Given the description of an element on the screen output the (x, y) to click on. 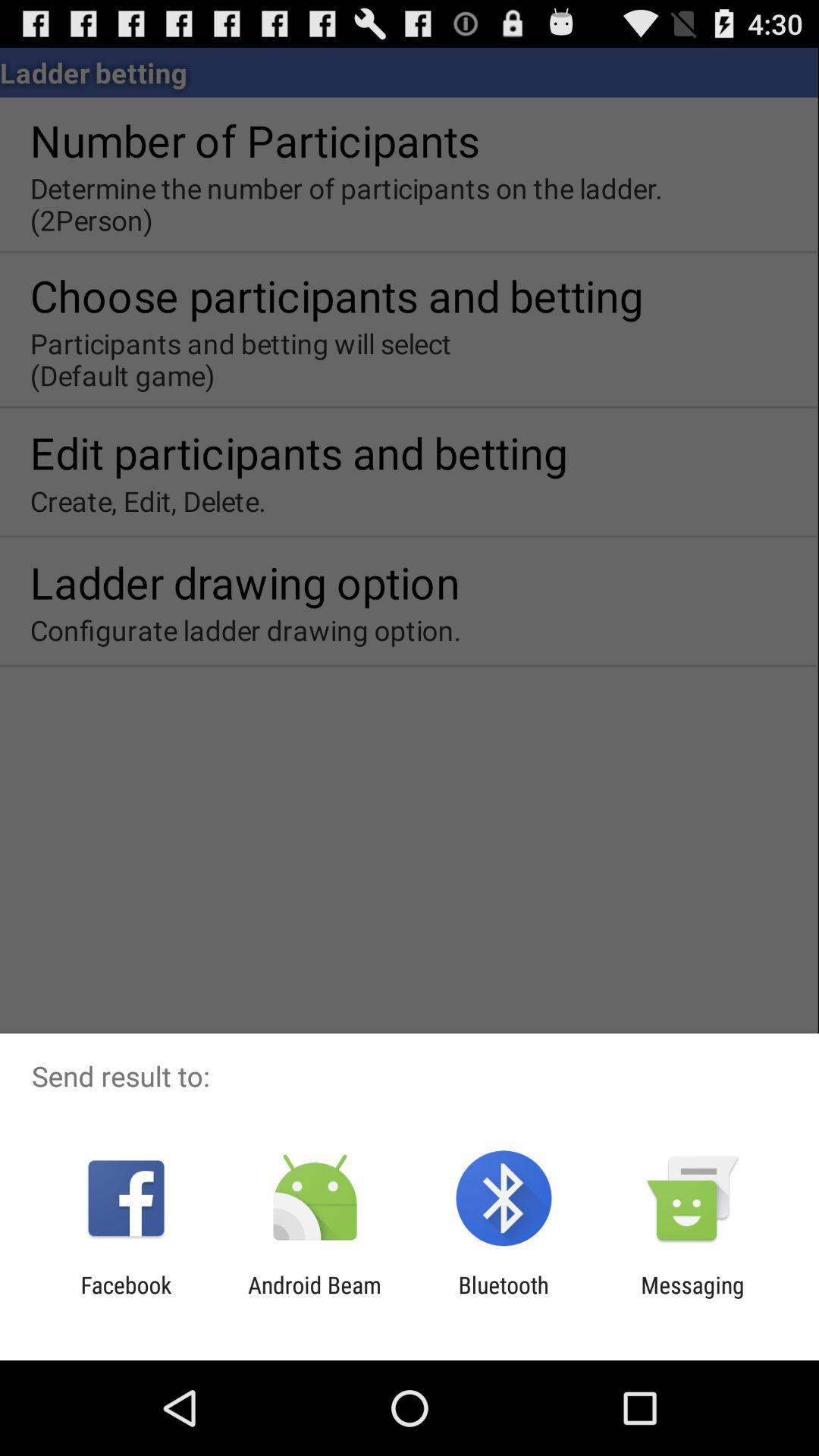
tap the app next to the facebook item (314, 1298)
